Given the description of an element on the screen output the (x, y) to click on. 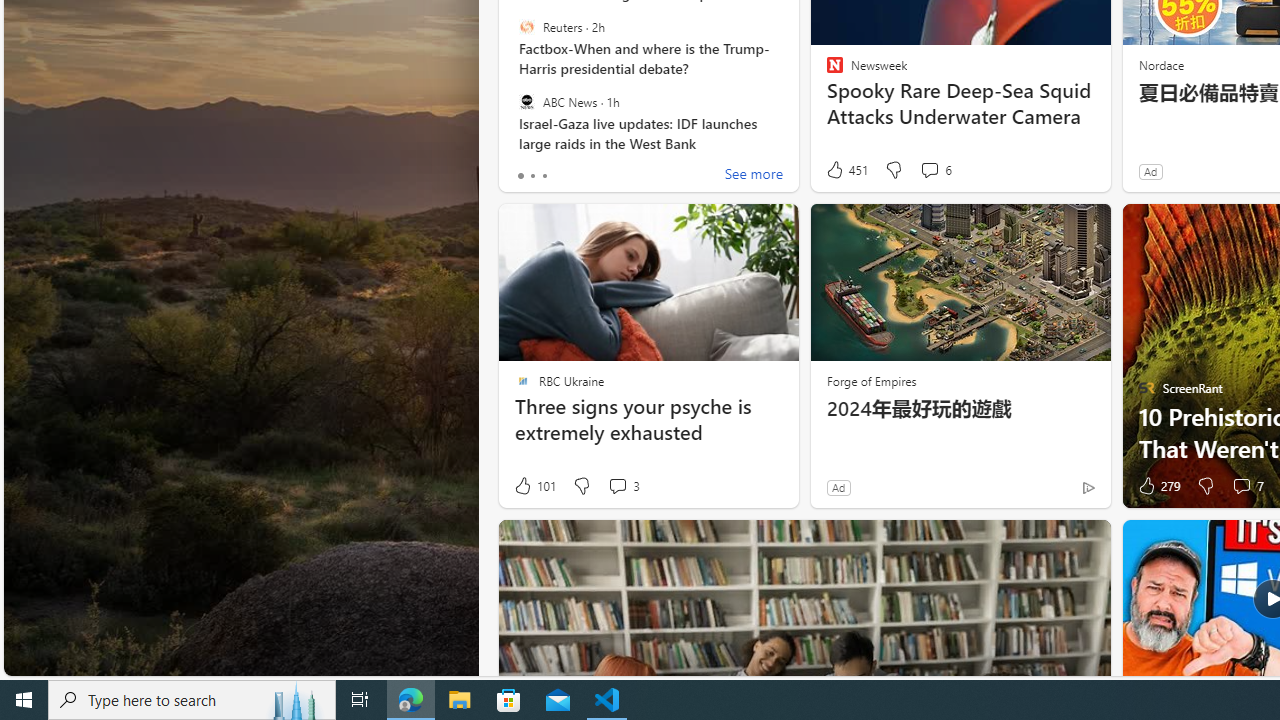
tab-0 (520, 175)
View comments 6 Comment (935, 170)
tab-1 (532, 175)
ABC News (526, 101)
View comments 3 Comment (617, 485)
101 Like (534, 485)
Forge of Empires (870, 380)
451 Like (845, 170)
View comments 3 Comment (623, 485)
Reuters (526, 27)
